Given the description of an element on the screen output the (x, y) to click on. 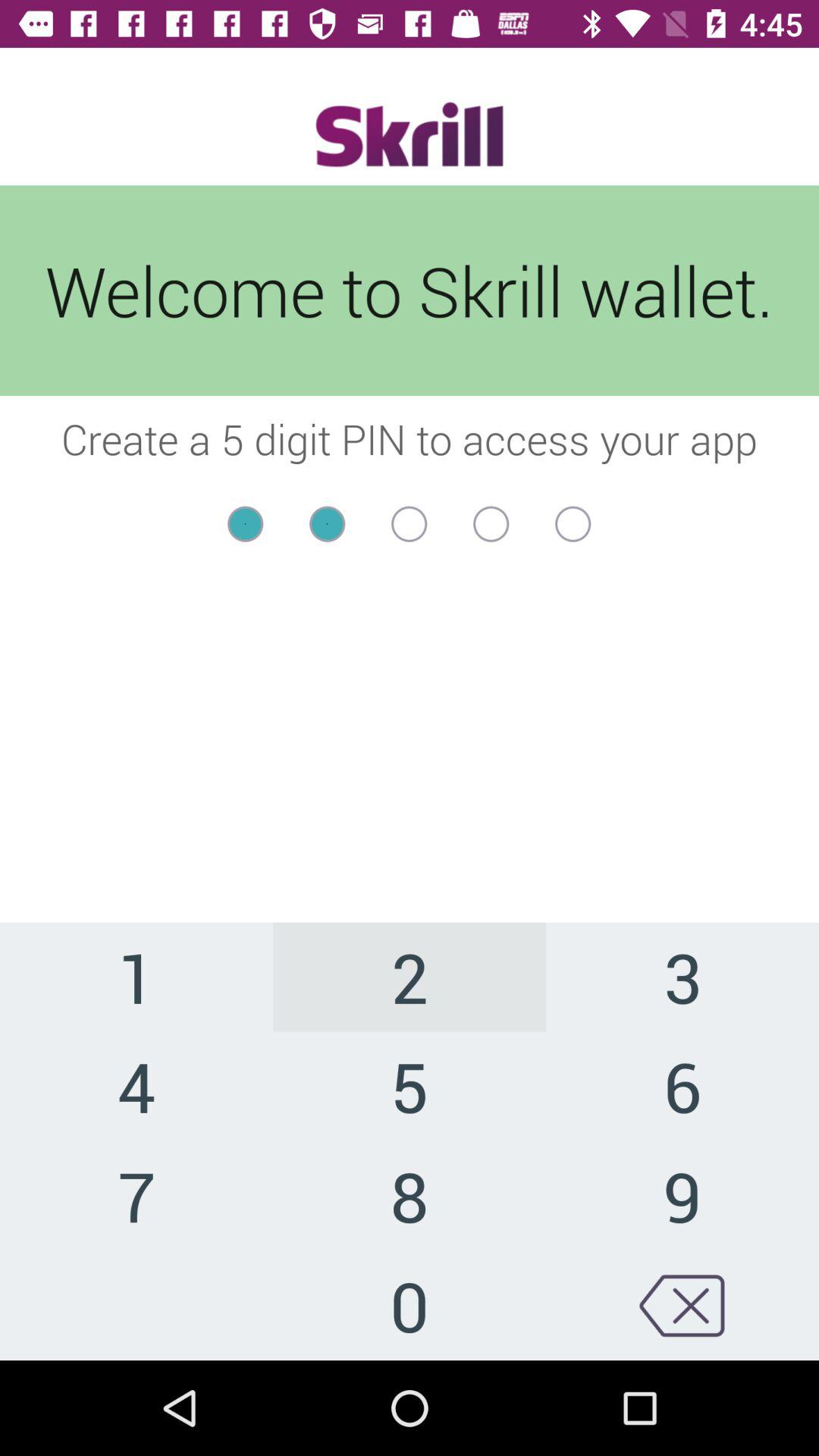
jump to 9 (682, 1195)
